Given the description of an element on the screen output the (x, y) to click on. 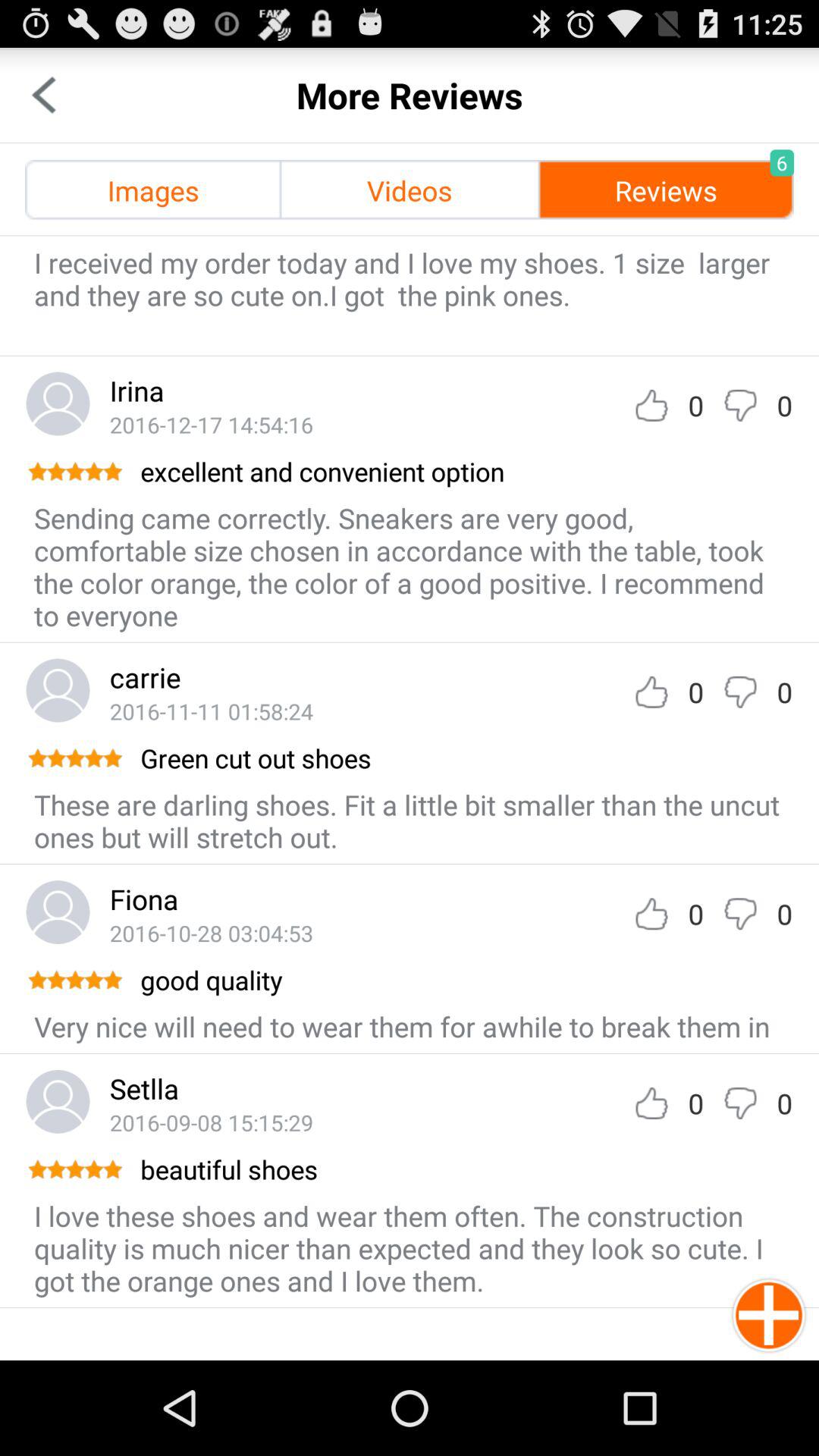
like review (651, 913)
